Given the description of an element on the screen output the (x, y) to click on. 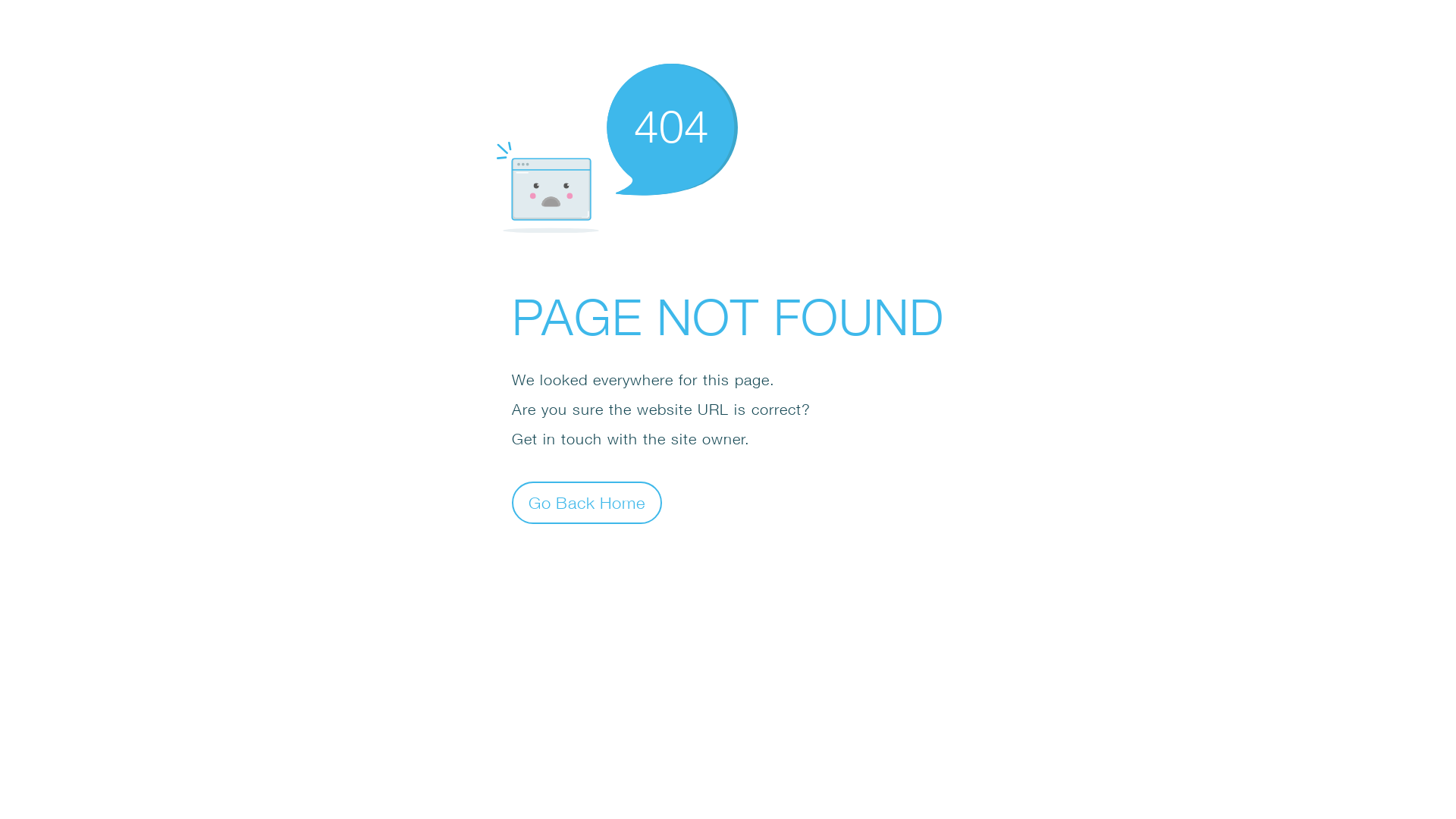
Go Back Home Element type: text (586, 502)
